Given the description of an element on the screen output the (x, y) to click on. 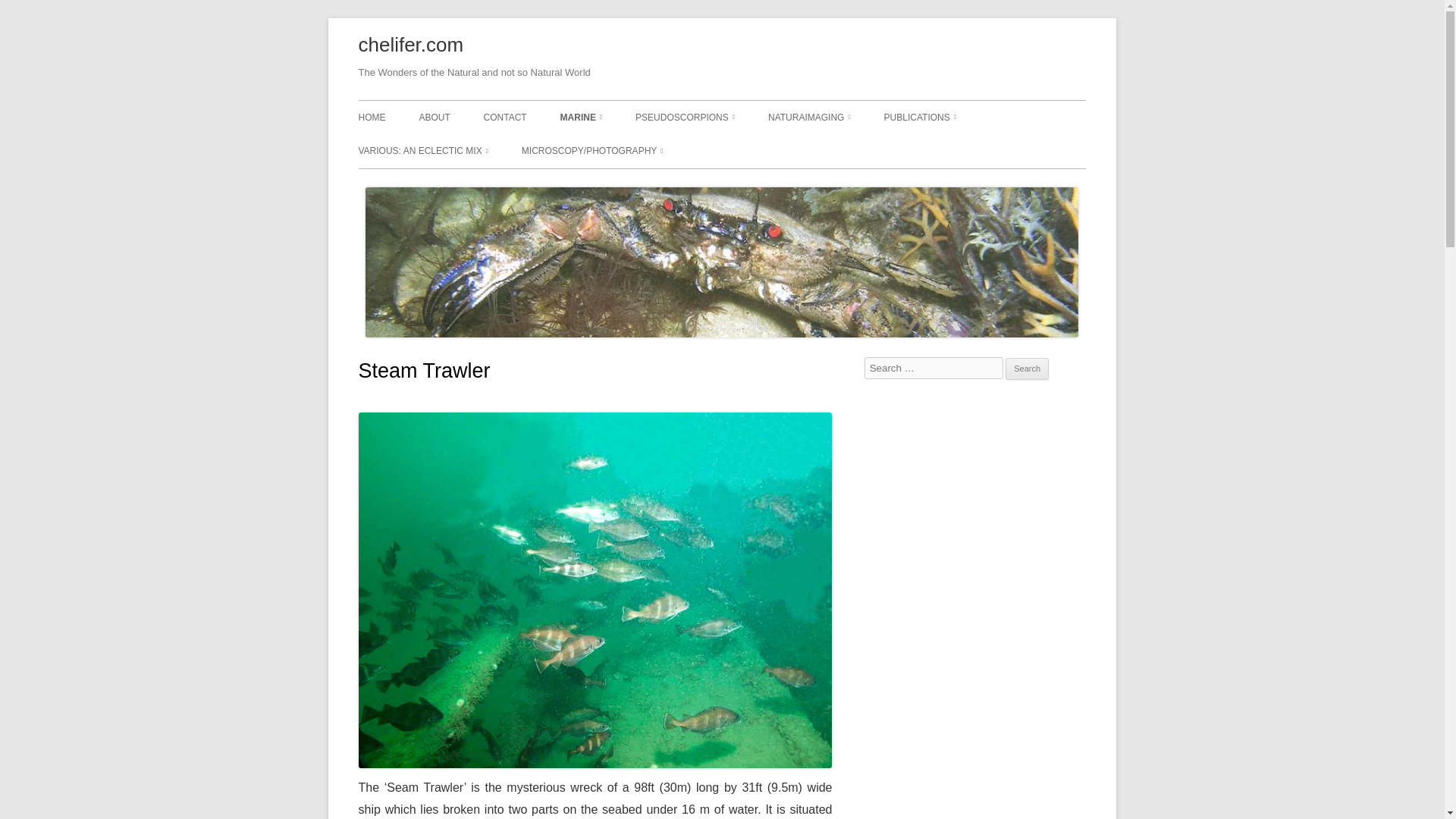
SUSSEX MARINE (635, 149)
chelifer.com (410, 45)
chelifer.com (410, 45)
MARINE (581, 117)
Search (1027, 368)
ABOUT (434, 117)
Search (1027, 368)
CONTACT (505, 117)
